Given the description of an element on the screen output the (x, y) to click on. 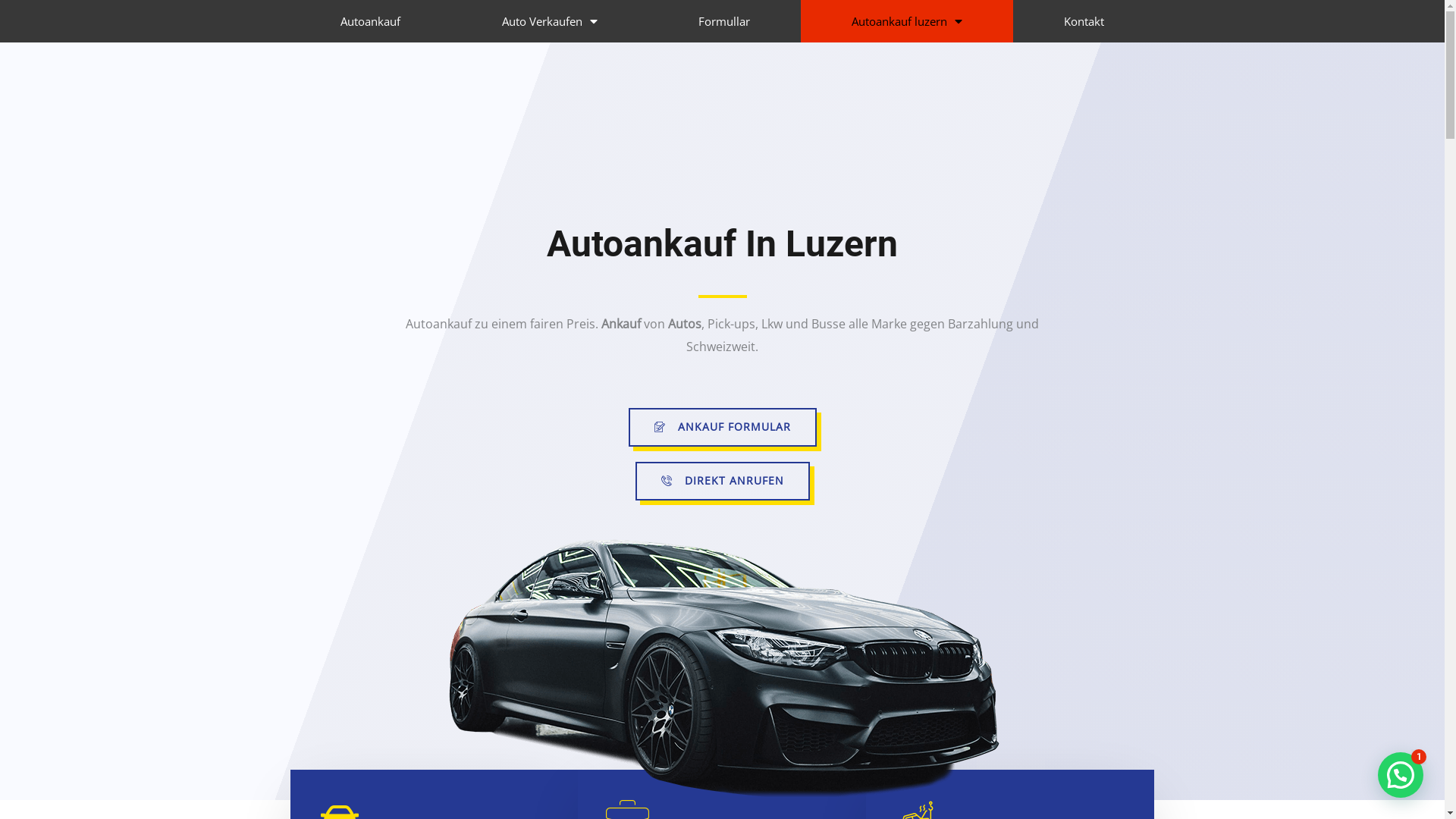
Autoankauf luzern Element type: text (906, 21)
Auto Verkaufen Element type: text (549, 21)
Kontakt Element type: text (1083, 21)
Formullar Element type: text (724, 21)
DIREKT ANRUFEN Element type: text (722, 480)
ANKAUF FORMULAR Element type: text (721, 426)
Autoankauf Element type: text (370, 21)
